Given the description of an element on the screen output the (x, y) to click on. 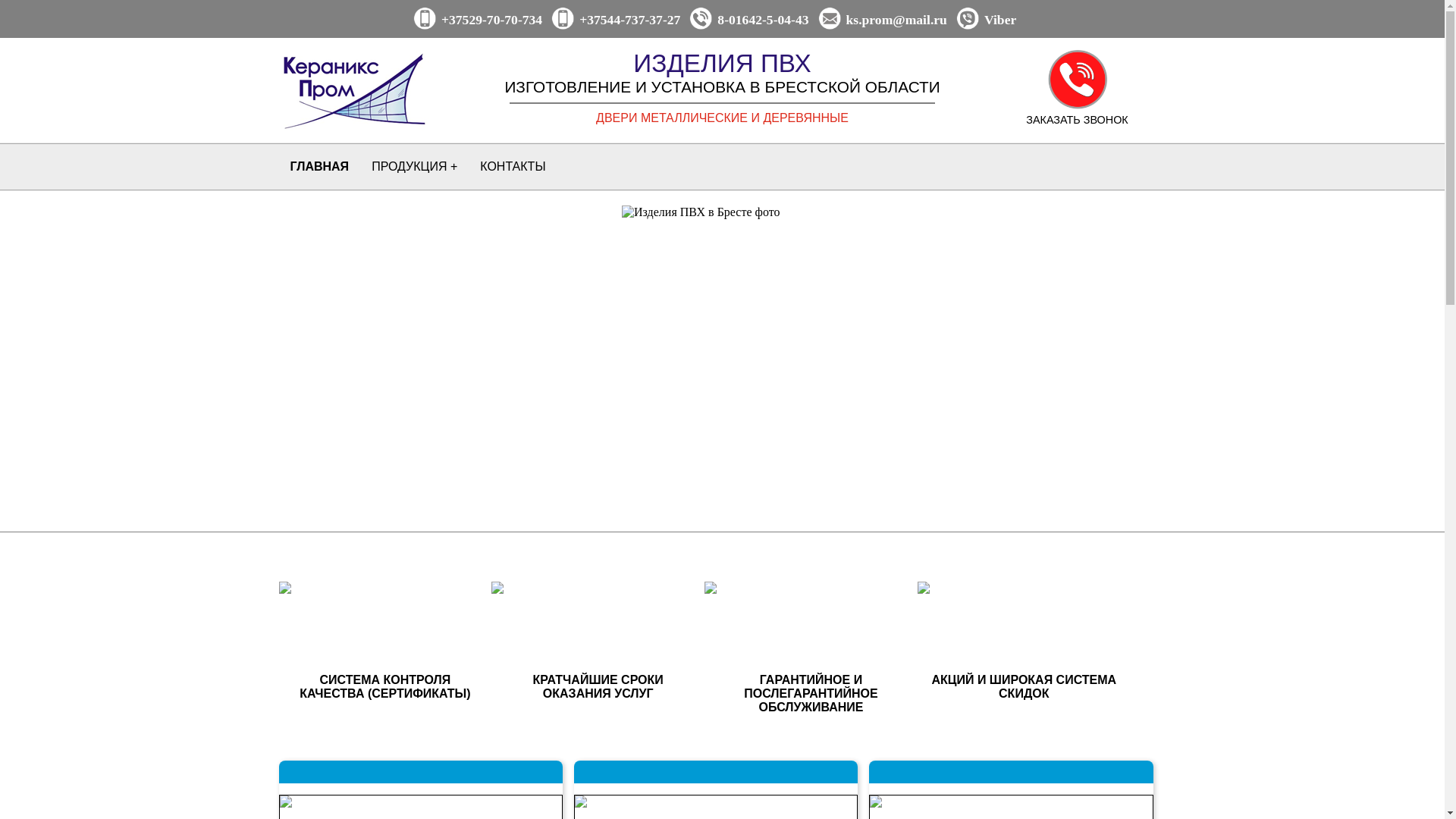
Viber Element type: text (1000, 19)
ks.prom@mail.ru Element type: text (896, 19)
+37529-70-70-734 Element type: text (491, 19)
+37544-737-37-27 Element type: text (629, 19)
8-01642-5-04-43 Element type: text (762, 19)
